Given the description of an element on the screen output the (x, y) to click on. 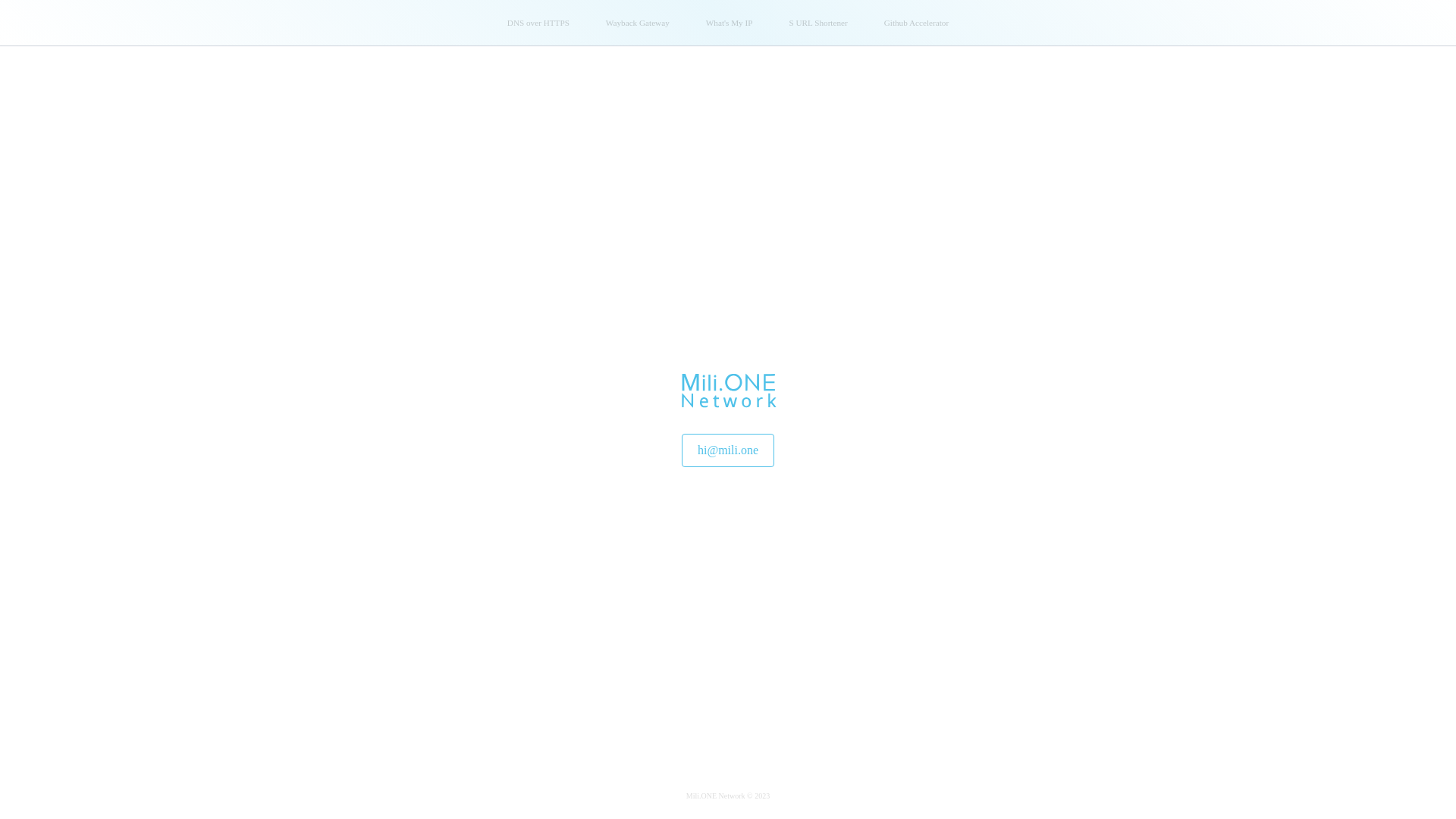
S URL Shortener Element type: text (817, 22)
Github Accelerator Element type: text (916, 22)
What's My IP Element type: text (729, 22)
DNS over HTTPS Element type: text (538, 22)
Wayback Gateway Element type: text (637, 22)
